Given the description of an element on the screen output the (x, y) to click on. 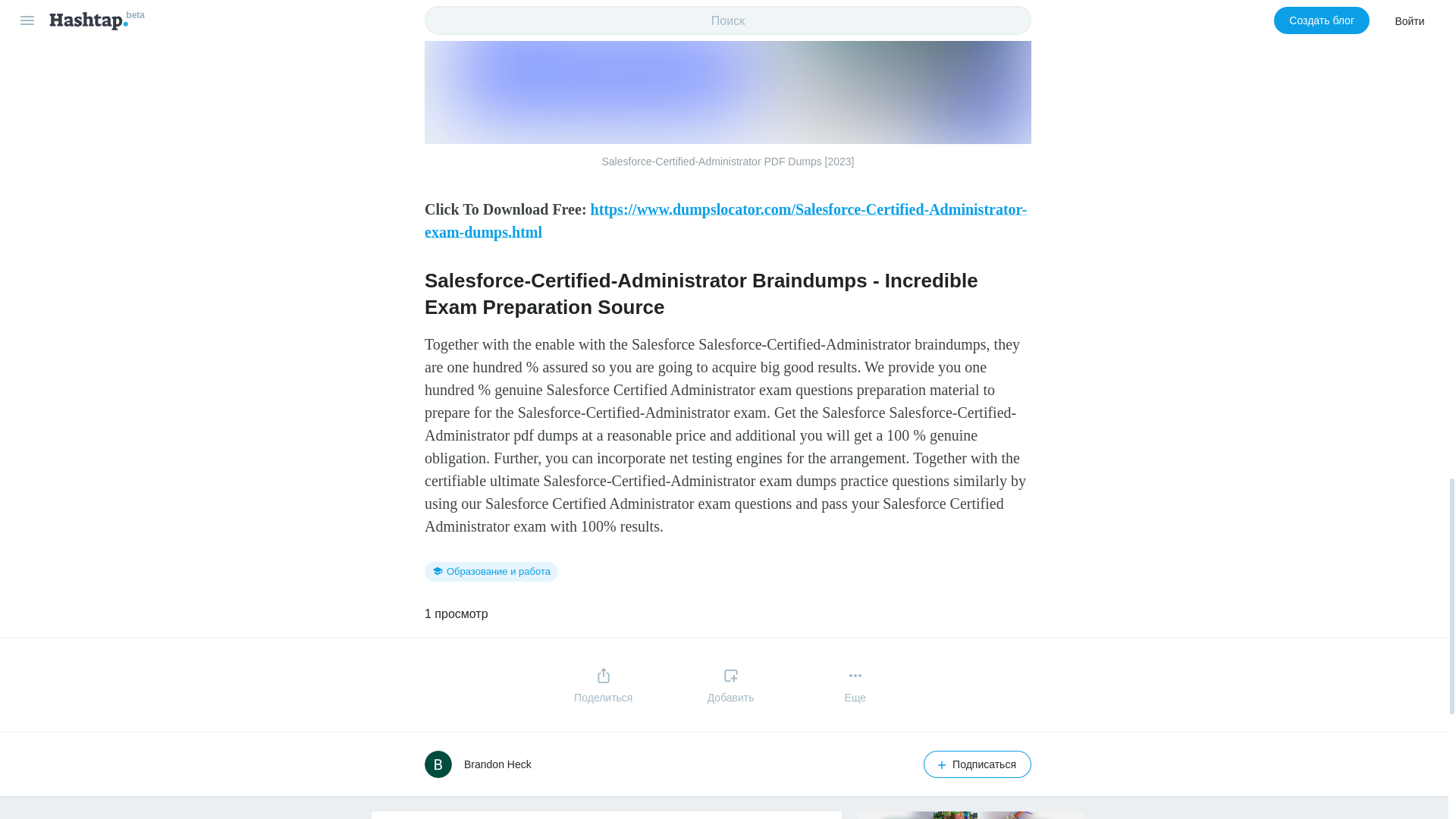
B (438, 764)
Brandon Heck (497, 764)
